Given the description of an element on the screen output the (x, y) to click on. 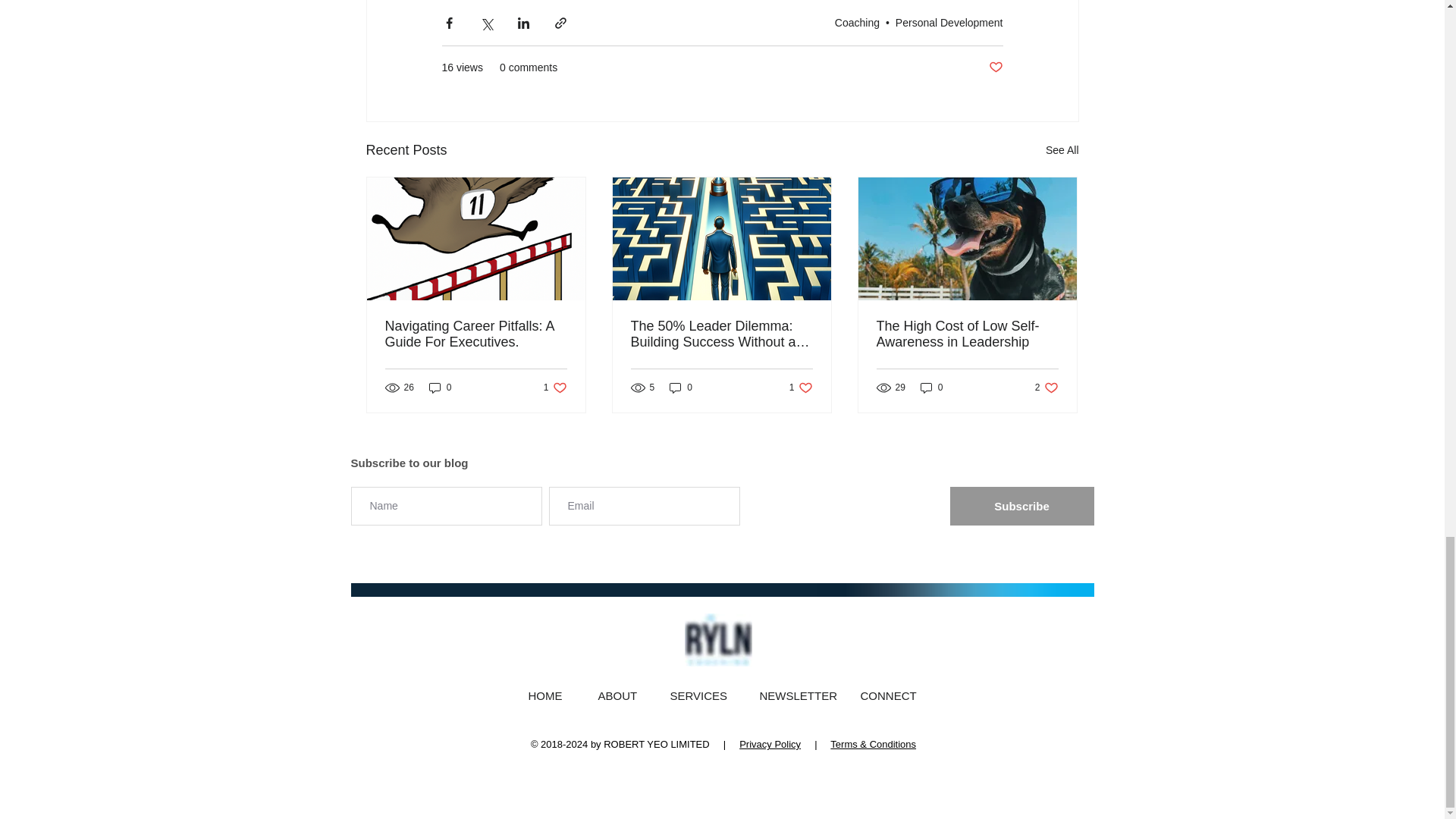
0 (555, 387)
logo ryln jpg.jpg (681, 387)
0 (717, 639)
Post not marked as liked (440, 387)
See All (995, 67)
just the bottom colours PNG.png (1061, 150)
Personal Development (721, 590)
Coaching (949, 22)
Navigating Career Pitfalls: A Guide For Executives. (856, 22)
